Given the description of an element on the screen output the (x, y) to click on. 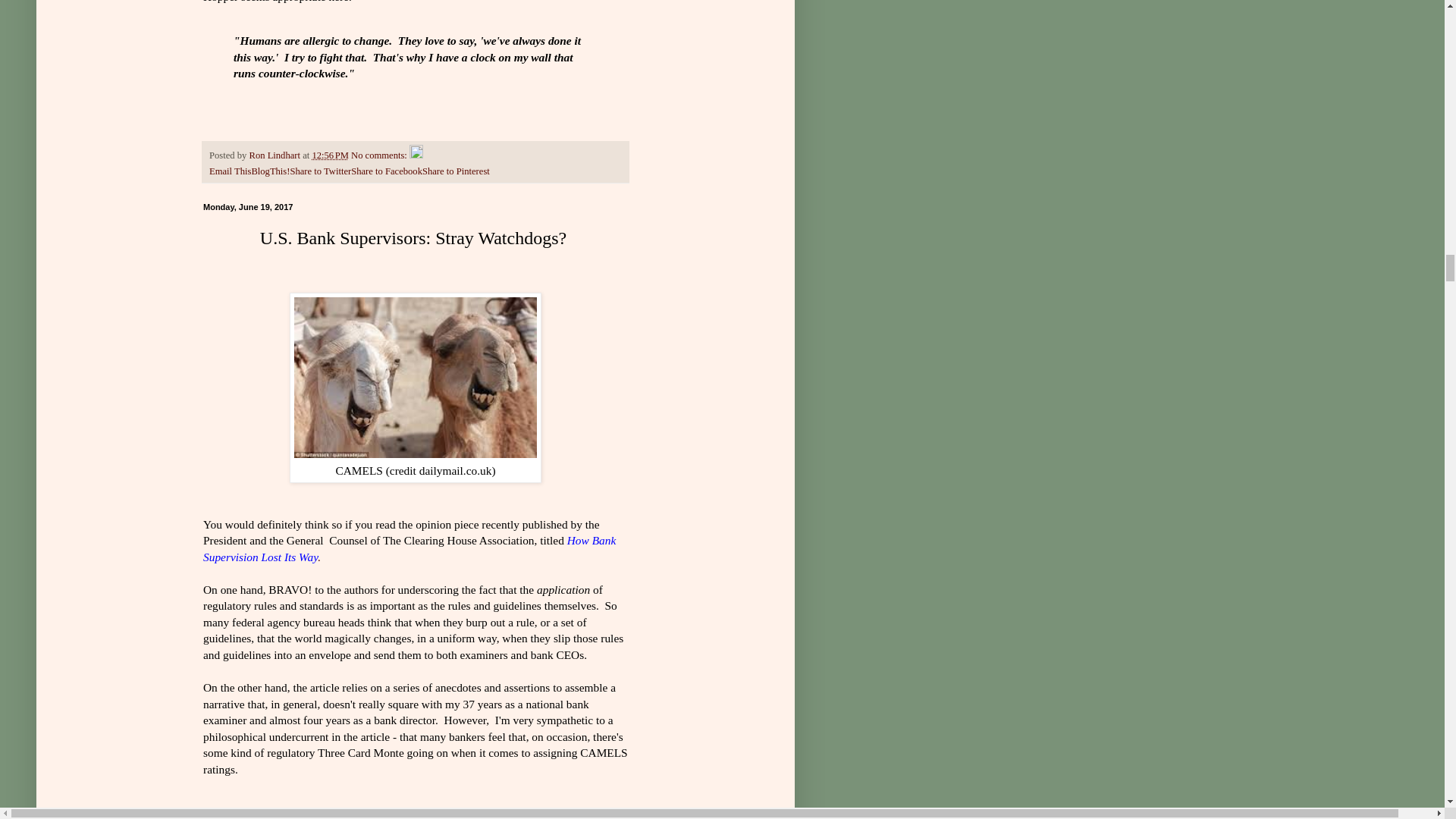
Ron Lindhart (275, 154)
Email This (229, 170)
BlogThis! (269, 170)
Share to Facebook (386, 170)
Share to Twitter (319, 170)
No comments: (379, 154)
Share to Pinterest (455, 170)
